Given the description of an element on the screen output the (x, y) to click on. 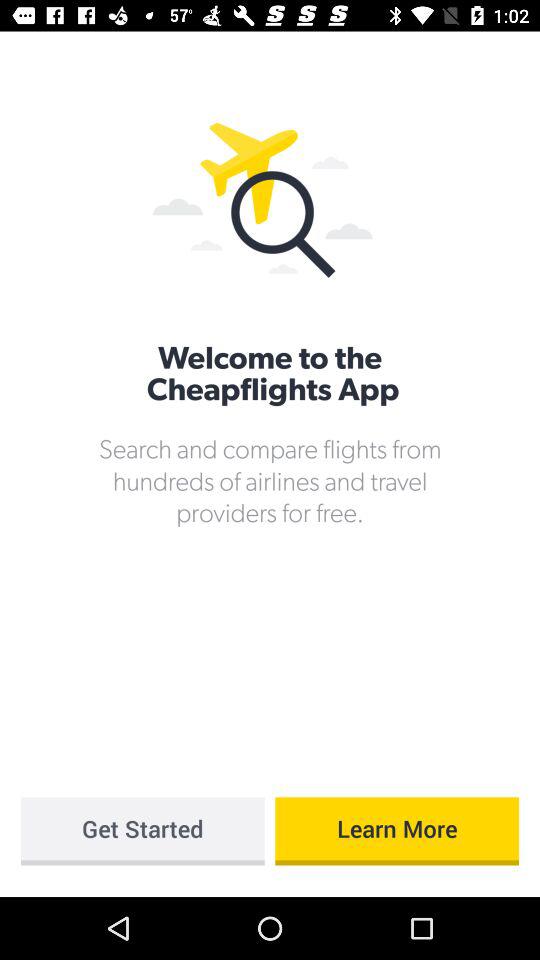
turn off icon below the search and compare (397, 831)
